Given the description of an element on the screen output the (x, y) to click on. 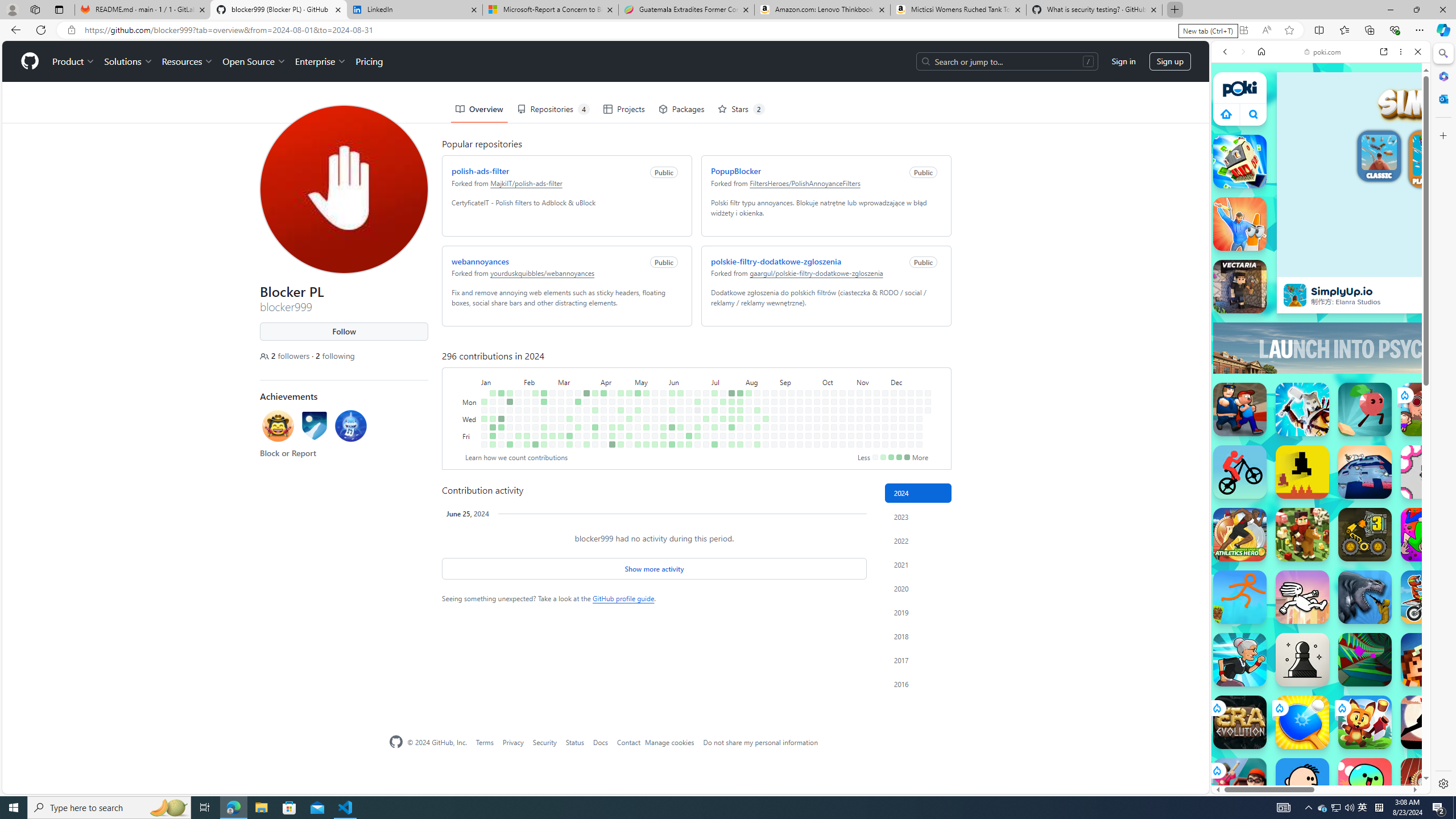
No contributions on July 1st. (706, 401)
3 contributions on March 30th. (586, 444)
Enterprise (319, 60)
No contributions on March 12th. (569, 410)
Contribution activity in 2020 (917, 588)
No contributions on November 15th. (867, 435)
No contributions on May 21st. (655, 410)
Stickman Parkour Skyland Stickman Parkour Skyland (1239, 597)
No contributions on November 5th. (859, 410)
No contributions on September 1st. (783, 392)
3 contributions on June 15th. (680, 444)
Thursday (471, 427)
